Given the description of an element on the screen output the (x, y) to click on. 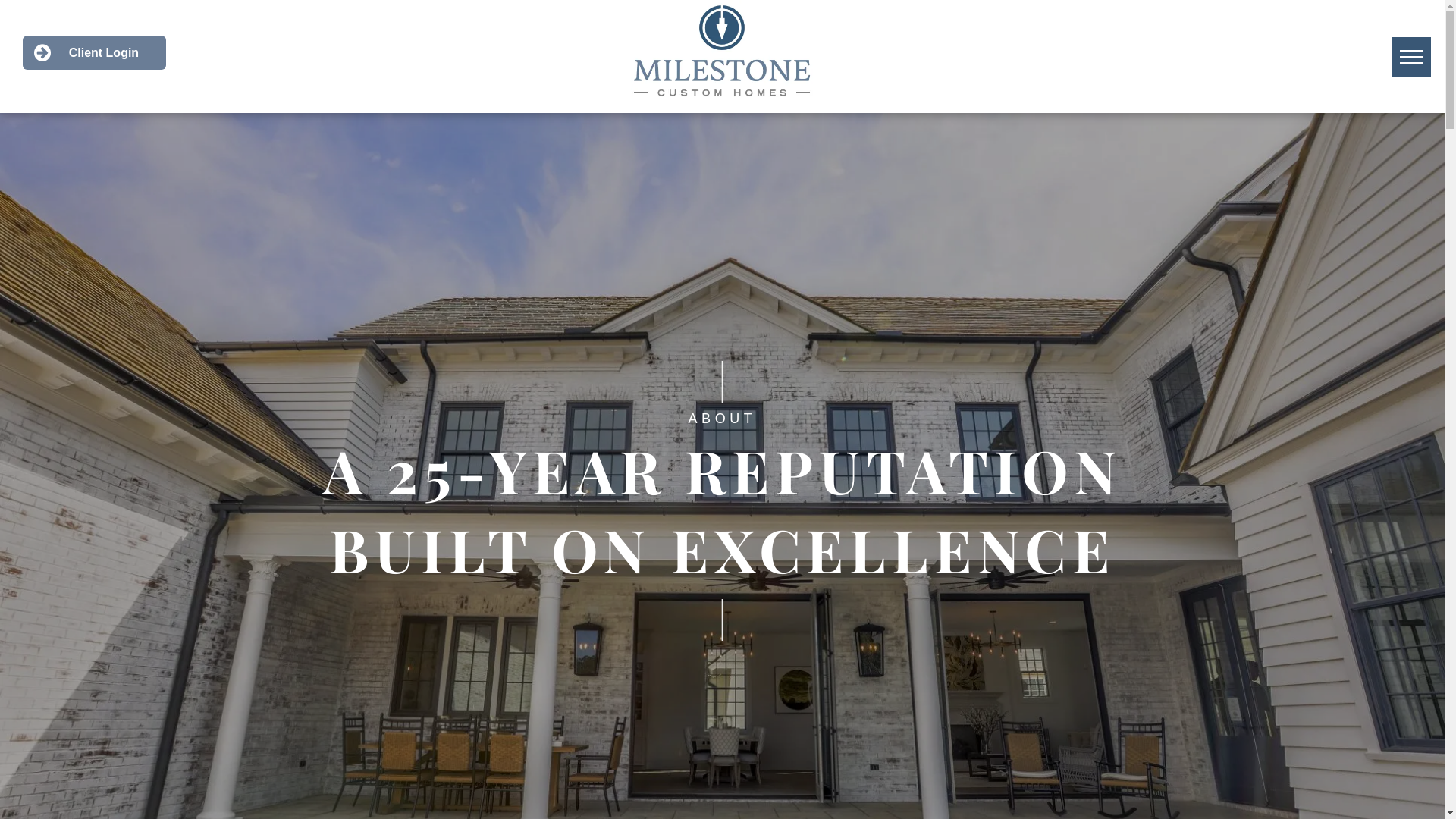
Client Login Element type: text (94, 52)
